Given the description of an element on the screen output the (x, y) to click on. 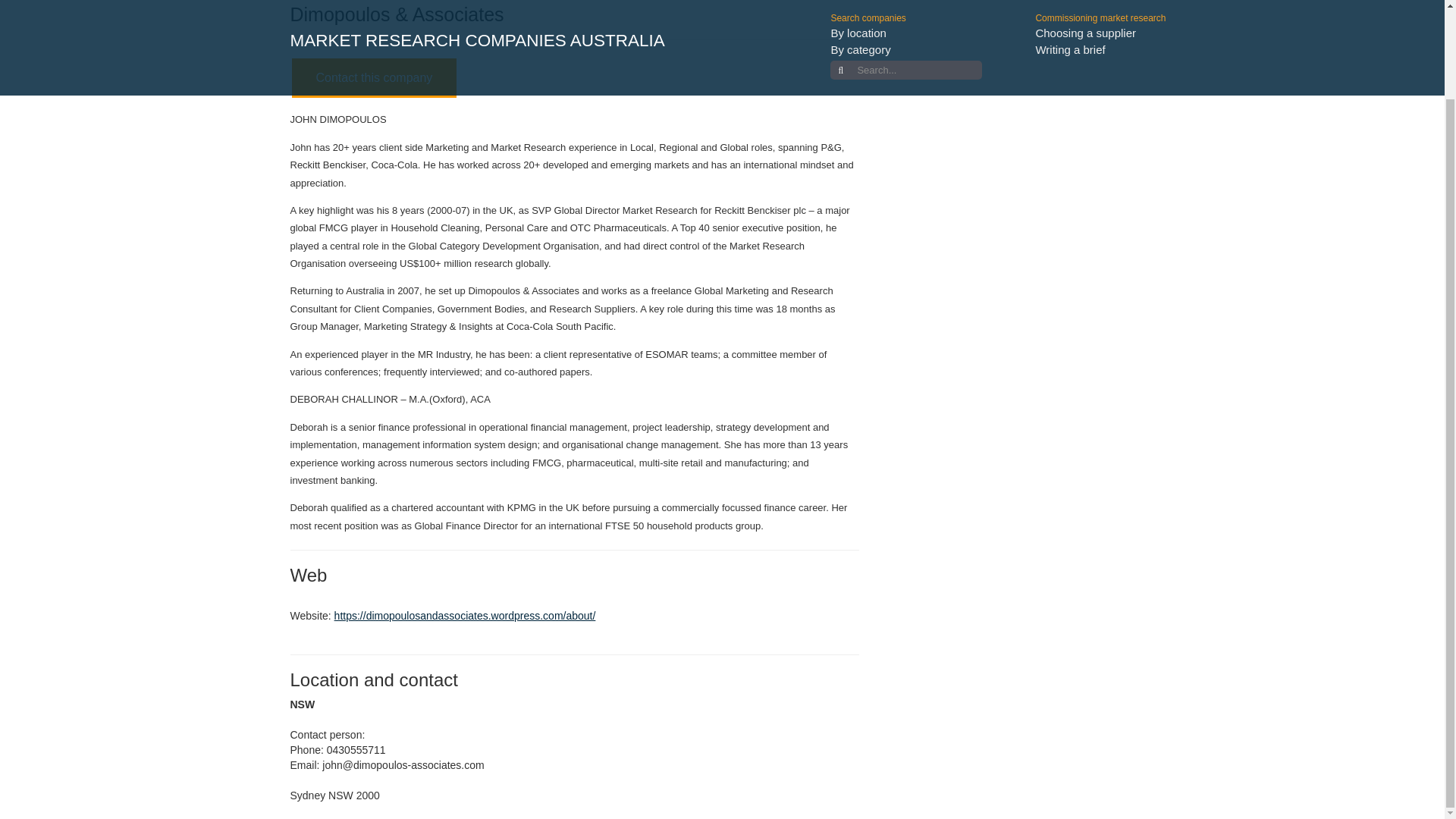
Contact this company (374, 77)
